Given the description of an element on the screen output the (x, y) to click on. 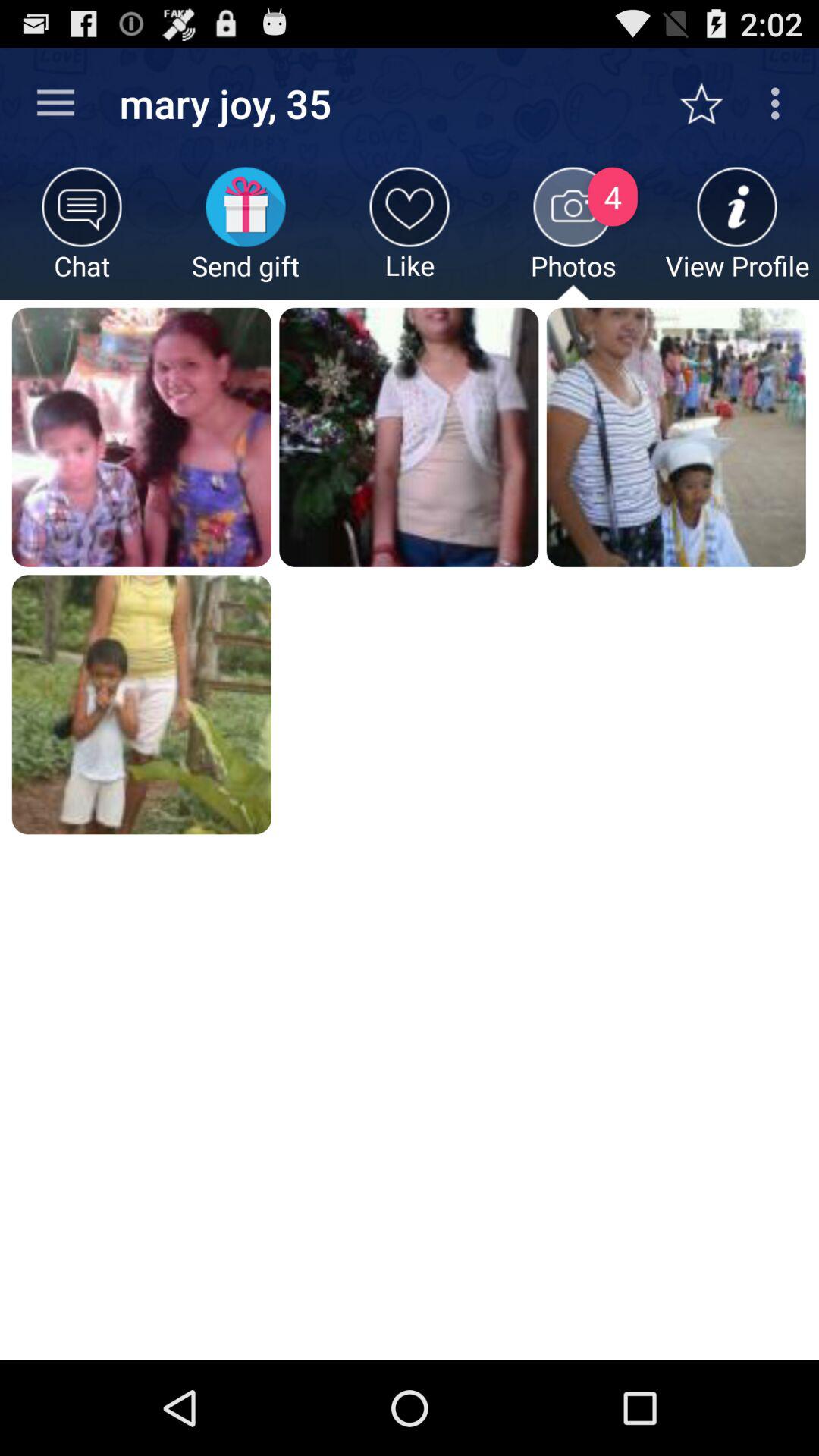
scroll until photos item (573, 233)
